Given the description of an element on the screen output the (x, y) to click on. 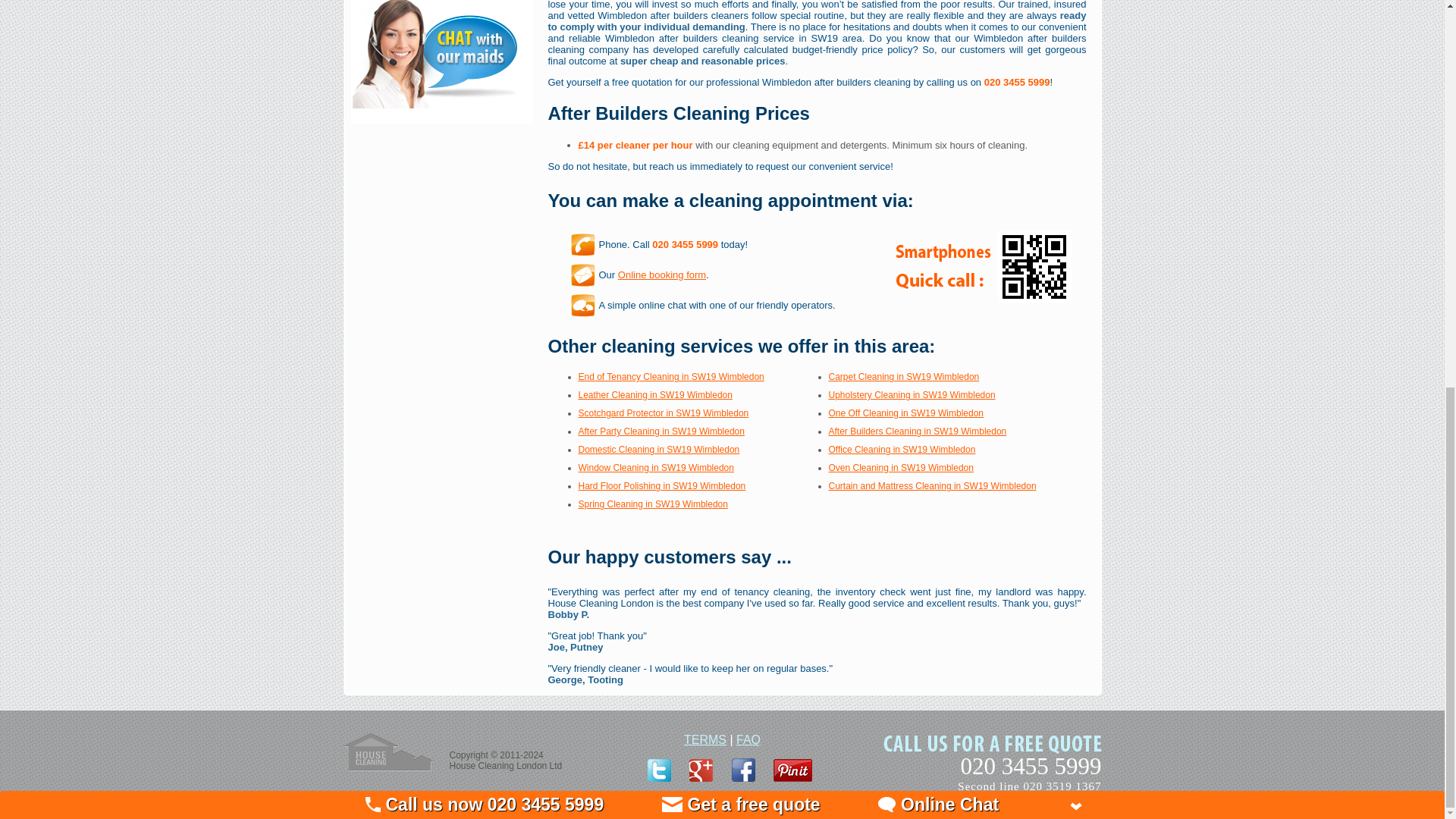
One Off Cleaning in SW19 Wimbledon (906, 412)
Upholstery Cleaning in SW19 Wimbledon (911, 394)
Carpet Cleaning in SW19 Wimbledon (903, 376)
After Builders Cleaning in SW19 Wimbledon (917, 430)
Domestic Cleaning in SW19 Wimbledon (658, 449)
Online booking form (661, 274)
End of Tenancy Cleaning in SW19 Wimbledon (670, 376)
After Party Cleaning in SW19 Wimbledon (661, 430)
Click here! (661, 274)
End of Tenancy Cleaning SW19 (670, 376)
Leather Cleaning in SW19 Wimbledon (655, 394)
Scotchgard Protector in SW19 Wimbledon (663, 412)
